Given the description of an element on the screen output the (x, y) to click on. 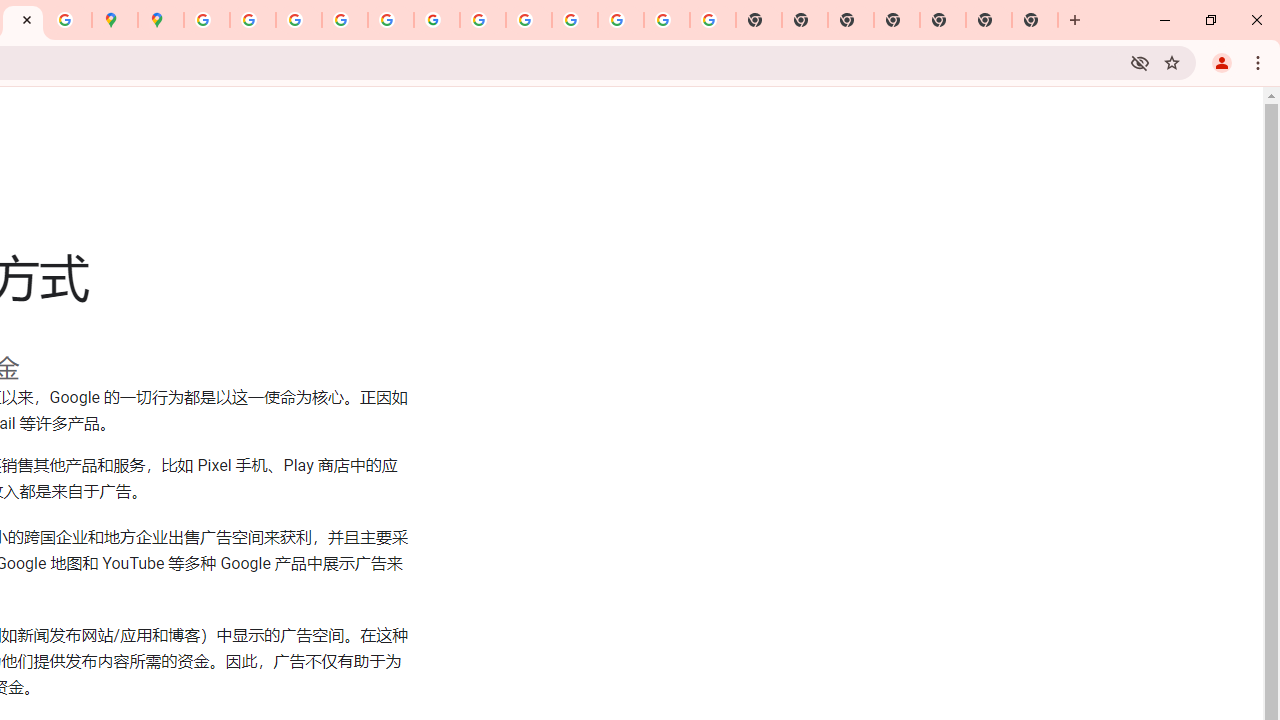
New Tab (1035, 20)
New Tab (989, 20)
Third-party cookies blocked (1139, 62)
Sign in - Google Accounts (207, 20)
Browse Chrome as a guest - Computer - Google Chrome Help (528, 20)
